Given the description of an element on the screen output the (x, y) to click on. 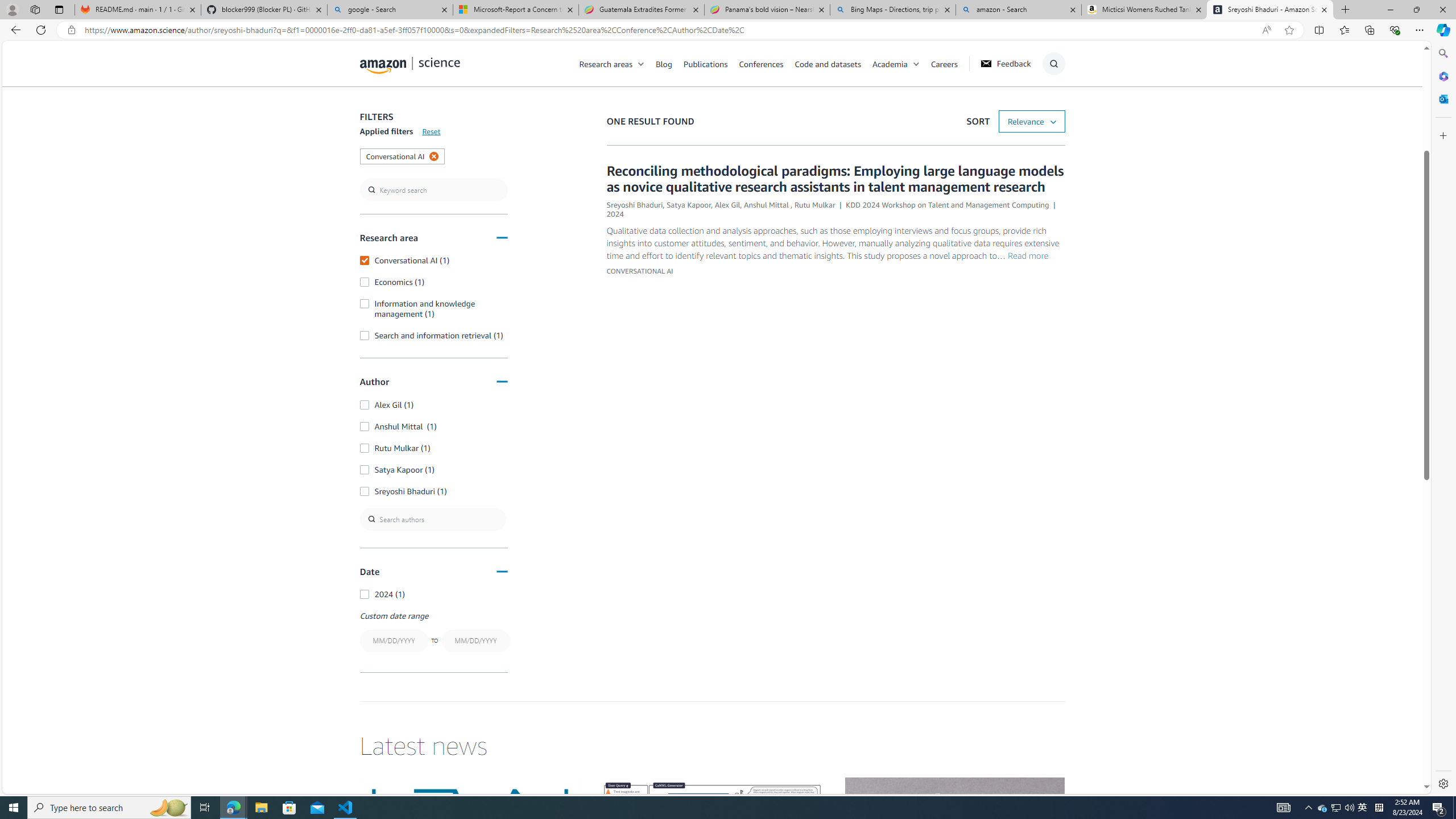
Research areas (606, 63)
KDD 2024 Workshop on Talent and Management Computing (947, 204)
Conferences (766, 63)
Blog (669, 63)
Class: icon-magnify (372, 108)
